Given the description of an element on the screen output the (x, y) to click on. 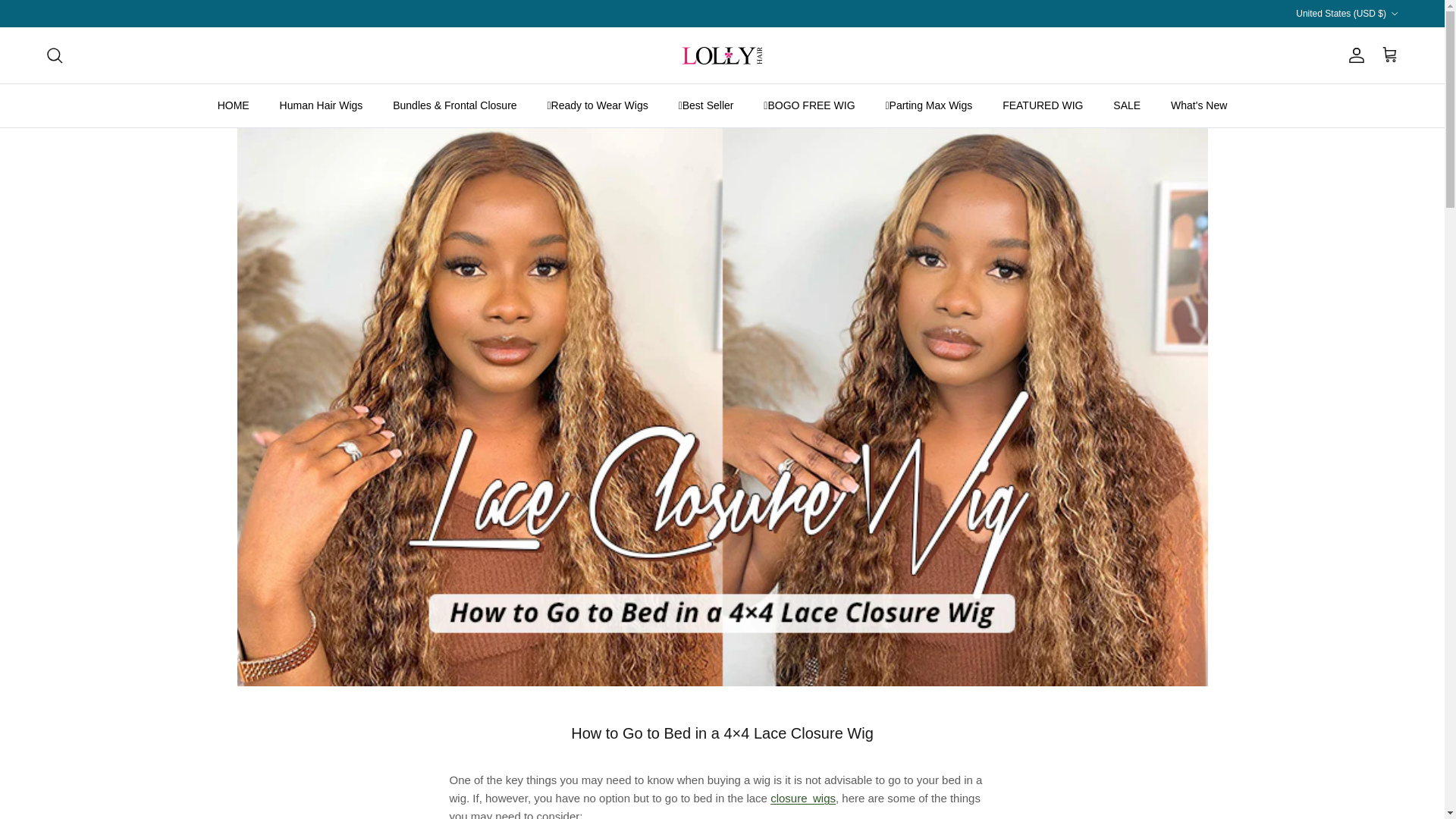
Human Hair Wigs (321, 104)
Cart (1389, 55)
HOME (233, 104)
Search (54, 54)
Account (1352, 54)
LollyHair (722, 54)
